Given the description of an element on the screen output the (x, y) to click on. 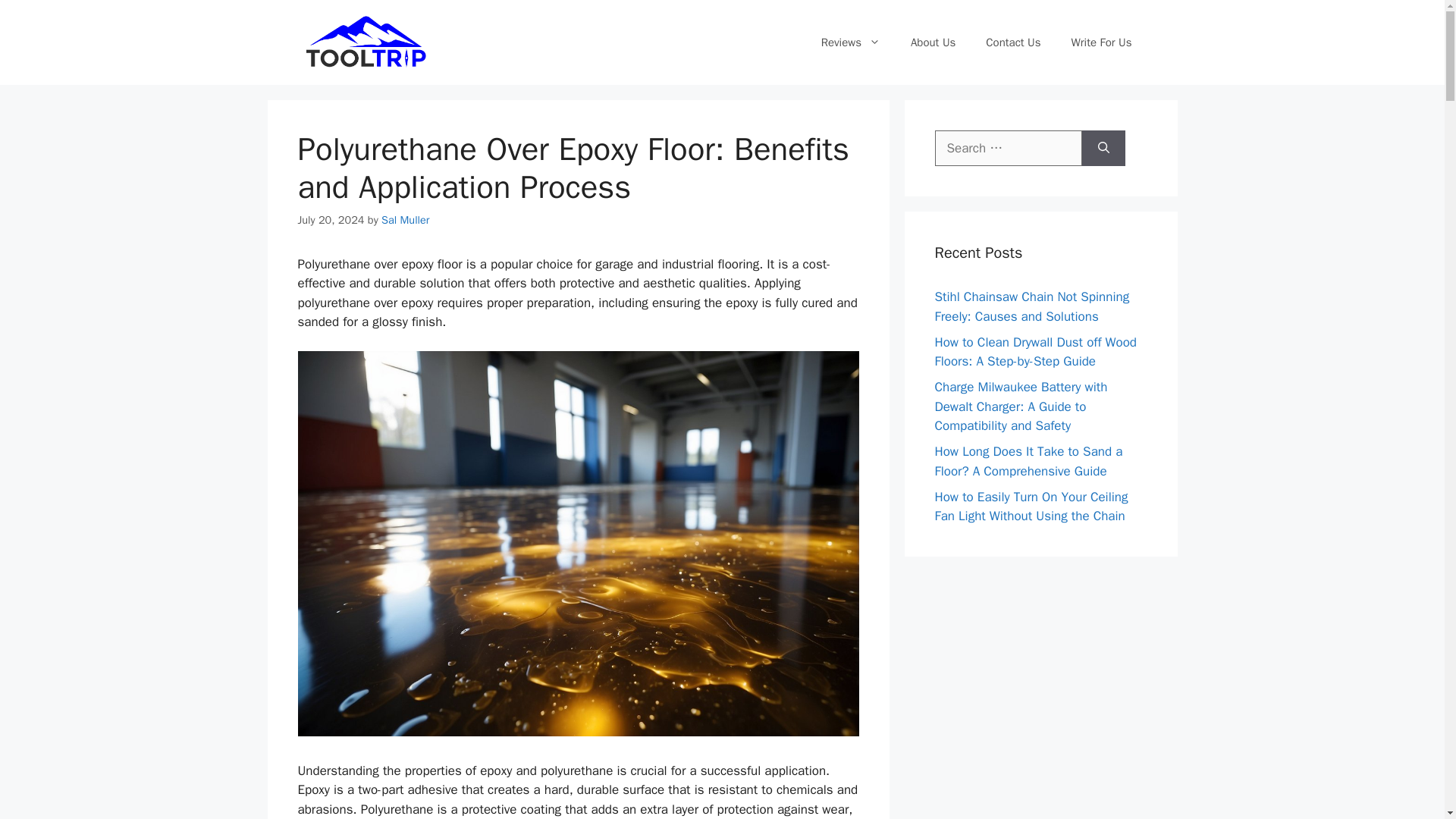
View all posts by Sal Muller (405, 219)
About Us (933, 42)
Reviews (850, 42)
Tool Trip (365, 41)
Contact Us (1013, 42)
Tool Trip (365, 42)
Write For Us (1101, 42)
Sal Muller (405, 219)
